Given the description of an element on the screen output the (x, y) to click on. 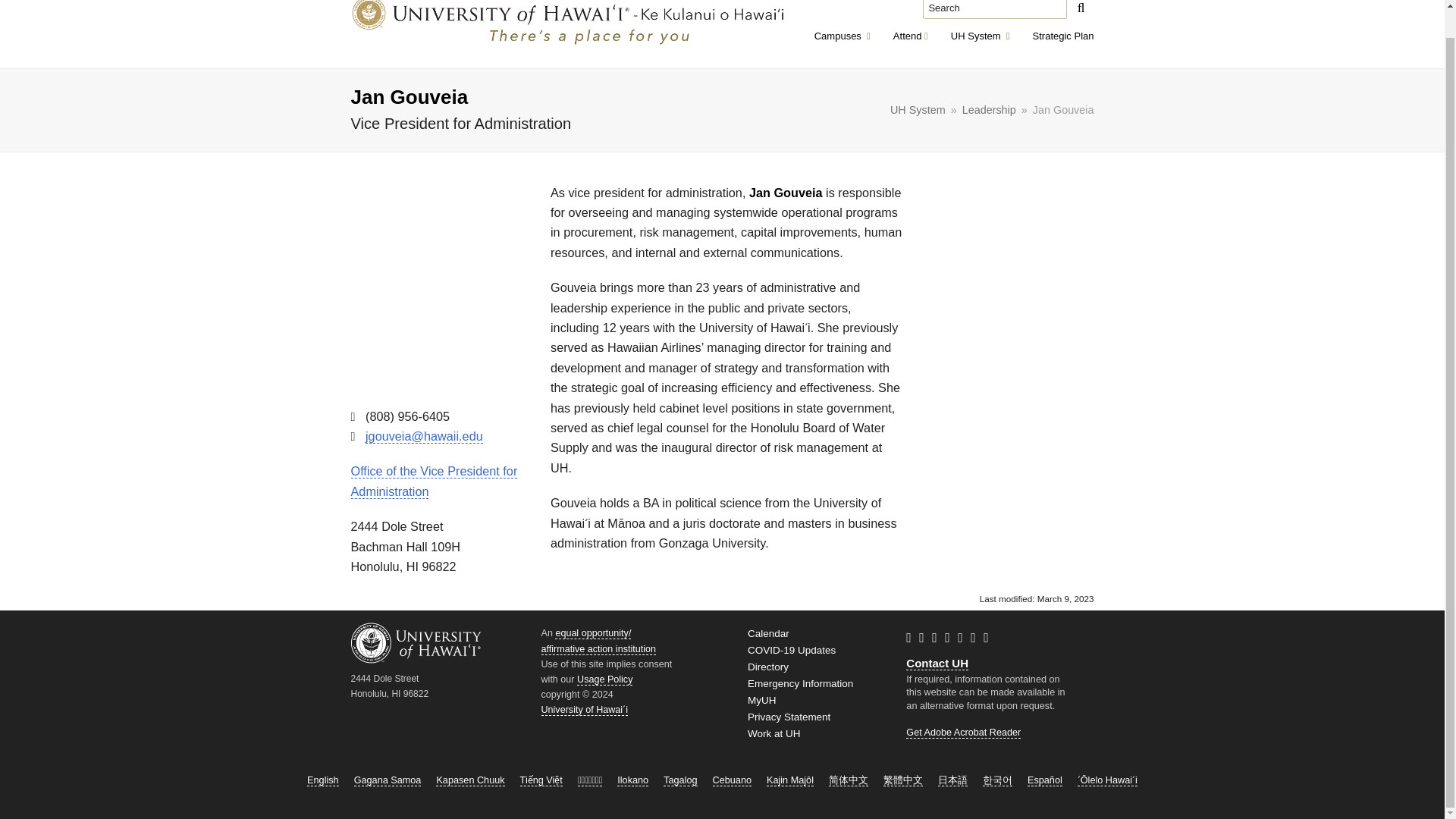
date (980, 35)
Search (1036, 598)
"University (995, 9)
University of Hawaii (558, 468)
Bachelor of Arts (957, 35)
Search (651, 502)
